Given the description of an element on the screen output the (x, y) to click on. 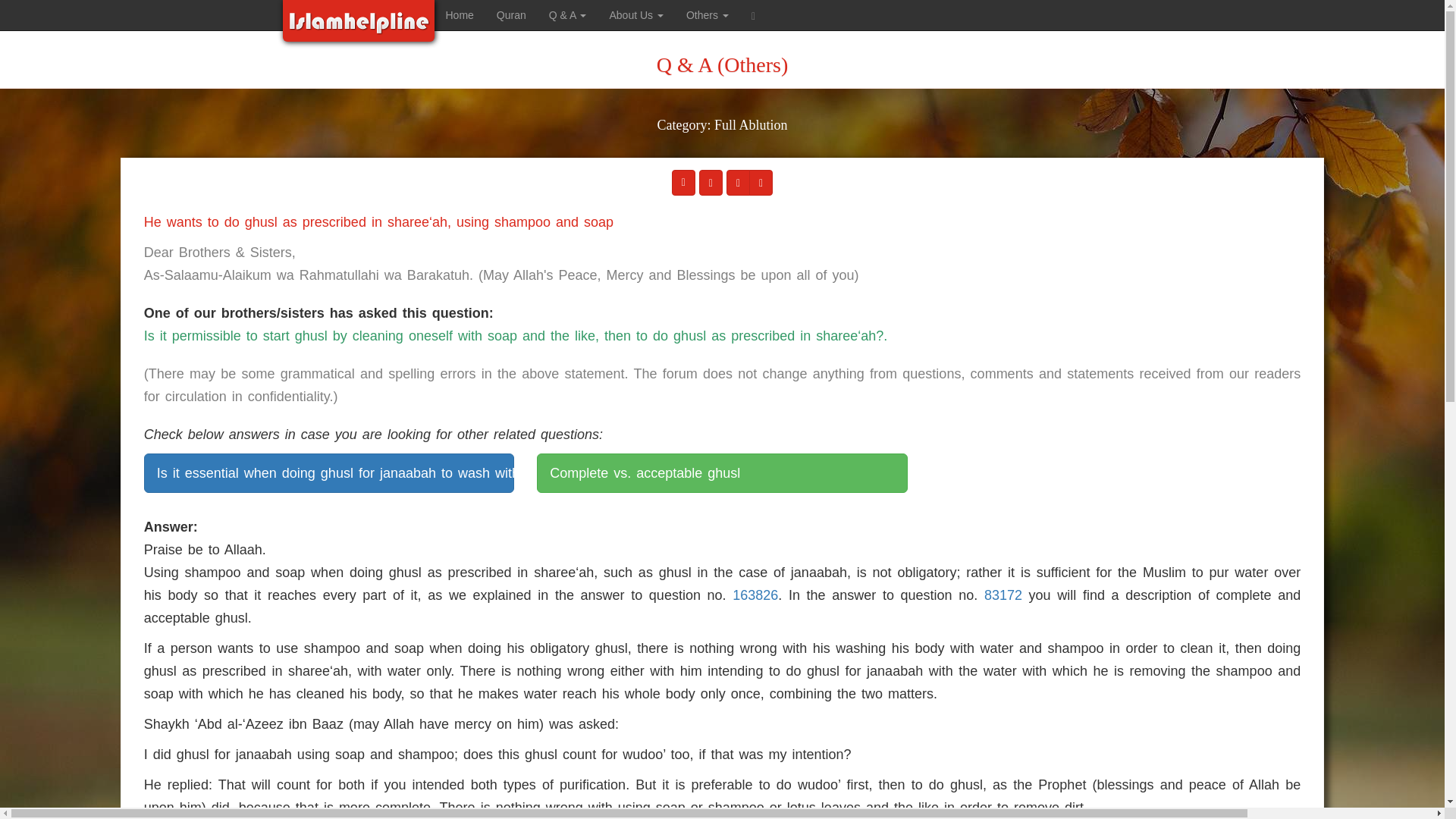
About Us (635, 15)
Complete vs. acceptable ghusl (722, 473)
163826 (754, 595)
Category: Full Ablution (721, 134)
83172 (1003, 595)
Quran (510, 15)
Home (458, 15)
Others (707, 15)
